Given the description of an element on the screen output the (x, y) to click on. 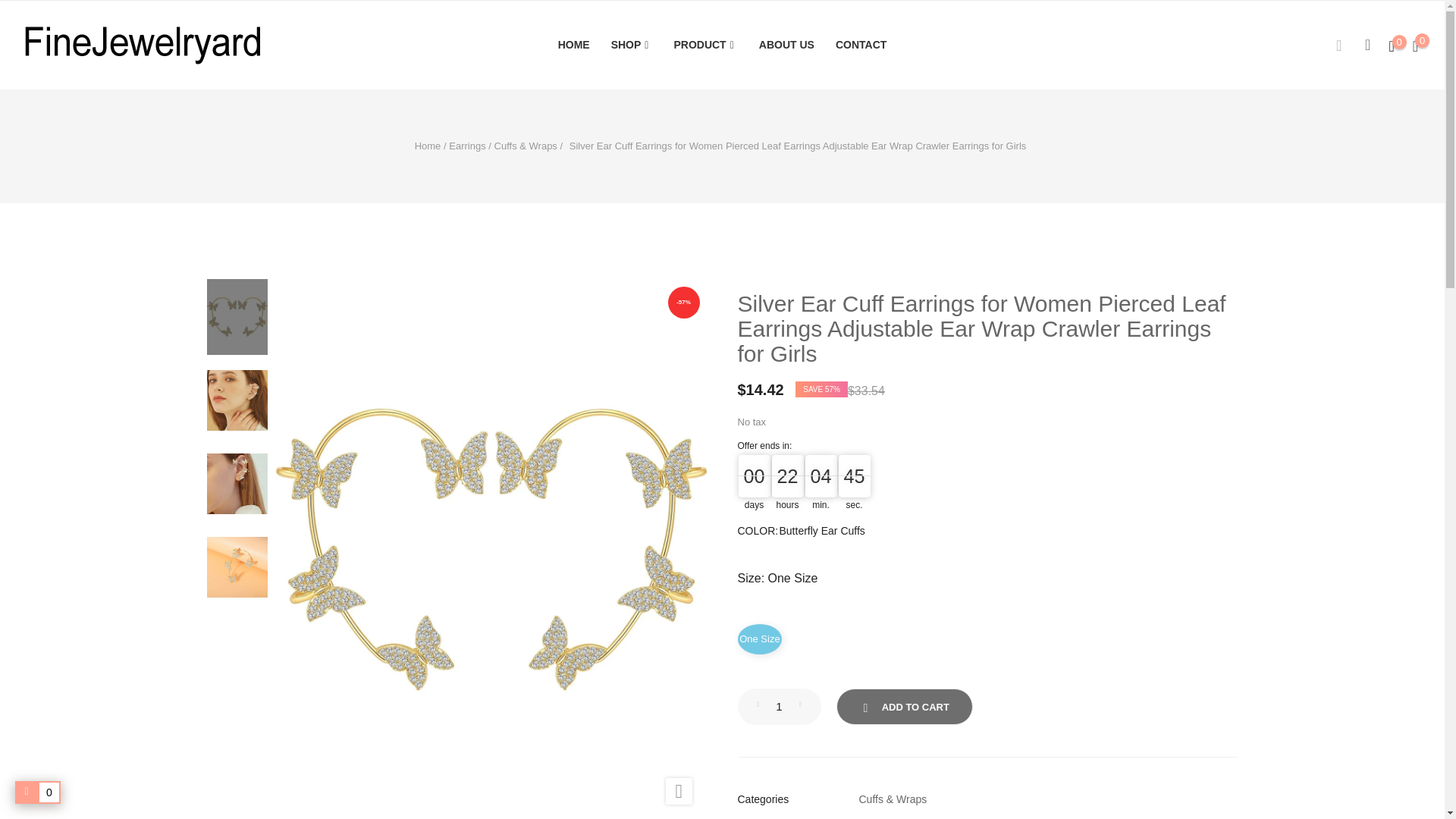
PRODUCT (705, 45)
1 (778, 706)
